Given the description of an element on the screen output the (x, y) to click on. 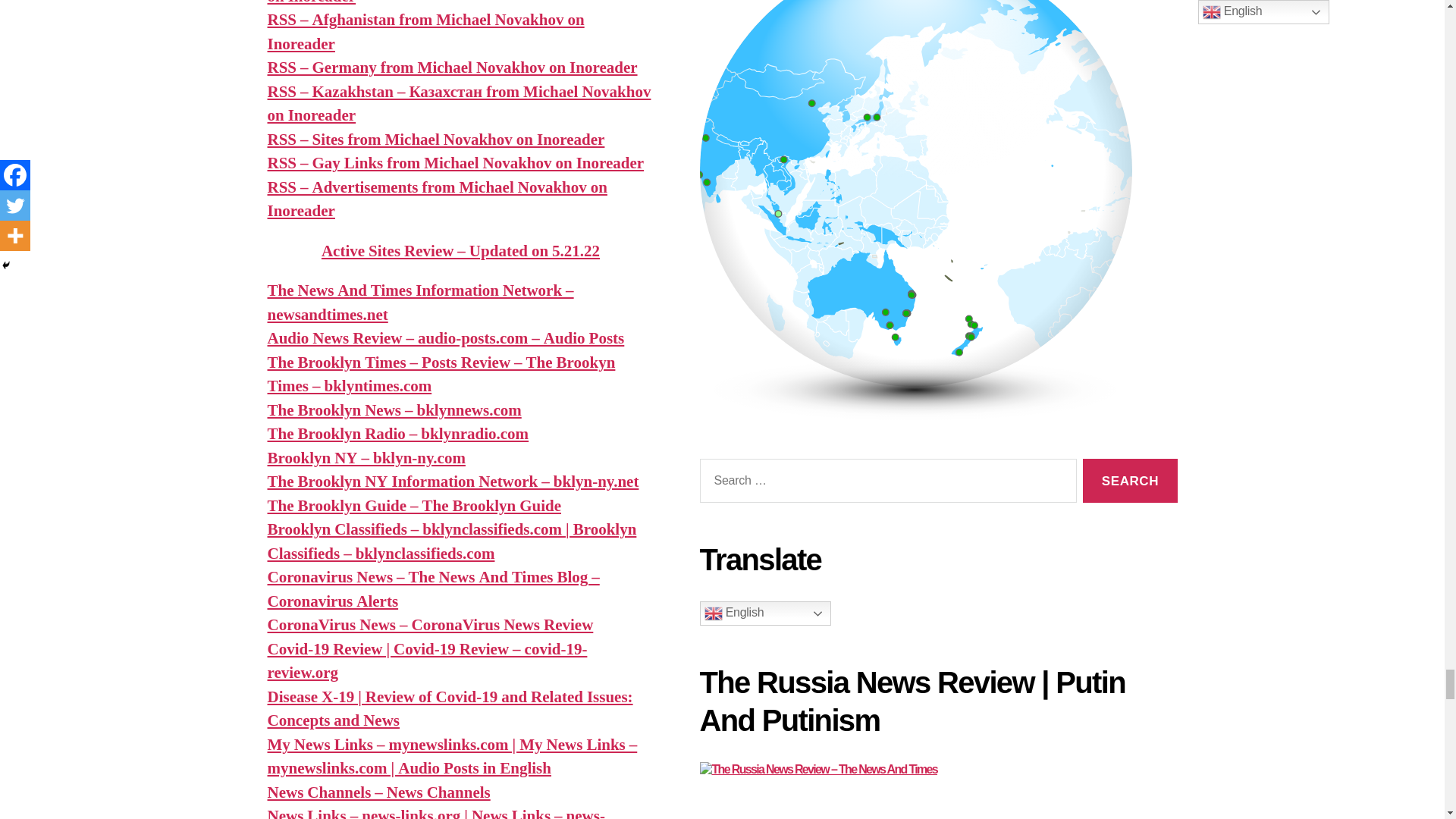
Search (1129, 480)
Search (1129, 480)
